Given the description of an element on the screen output the (x, y) to click on. 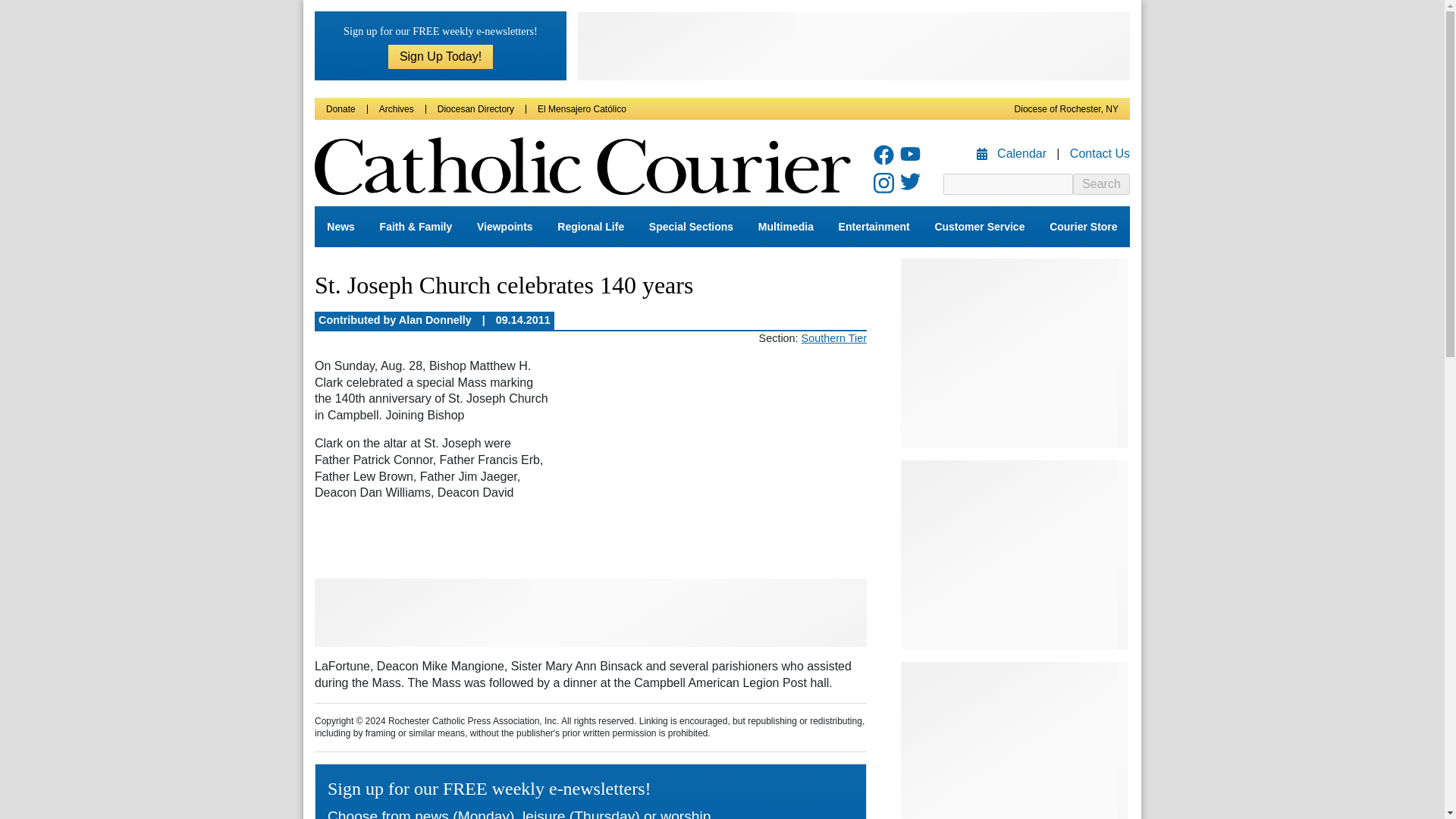
Search (1101, 183)
Diocesan Directory (475, 108)
Regional Life (590, 226)
Archives (395, 108)
Special Sections (691, 226)
Diocese of Rochester, NY (1066, 108)
News (340, 226)
Contact Us (1099, 153)
Sign Up Today! (440, 56)
Viewpoints (504, 226)
